Given the description of an element on the screen output the (x, y) to click on. 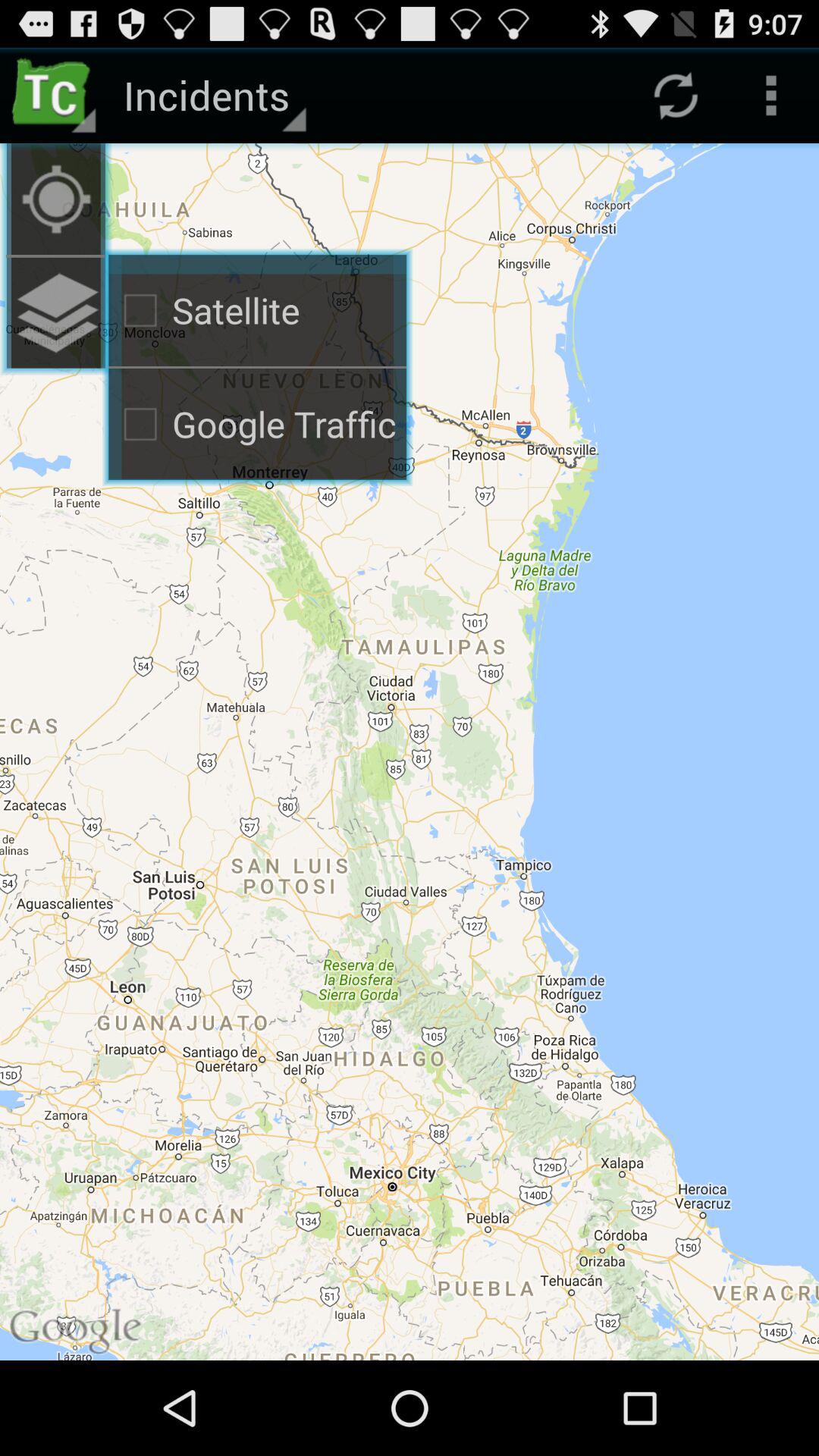
click the google traffic checkbox (257, 424)
